Given the description of an element on the screen output the (x, y) to click on. 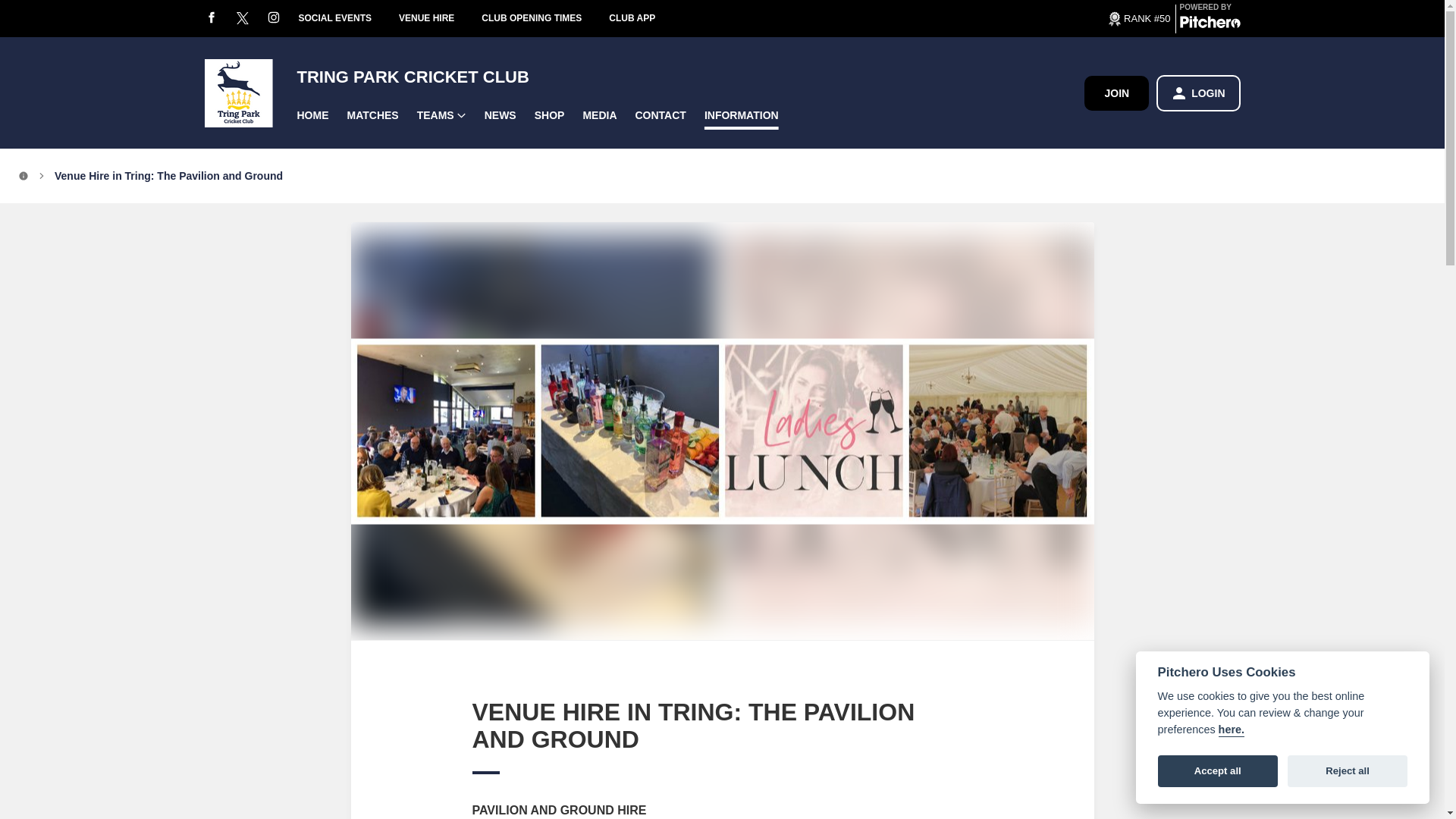
LOGIN (1198, 93)
MATCHES (372, 115)
HOME (312, 115)
Pitchero Rankings (1137, 18)
JOIN (1116, 92)
CLUB APP (645, 18)
SHOP (549, 115)
JOIN (1116, 93)
MEDIA (599, 115)
VENUE HIRE (439, 18)
